Given the description of an element on the screen output the (x, y) to click on. 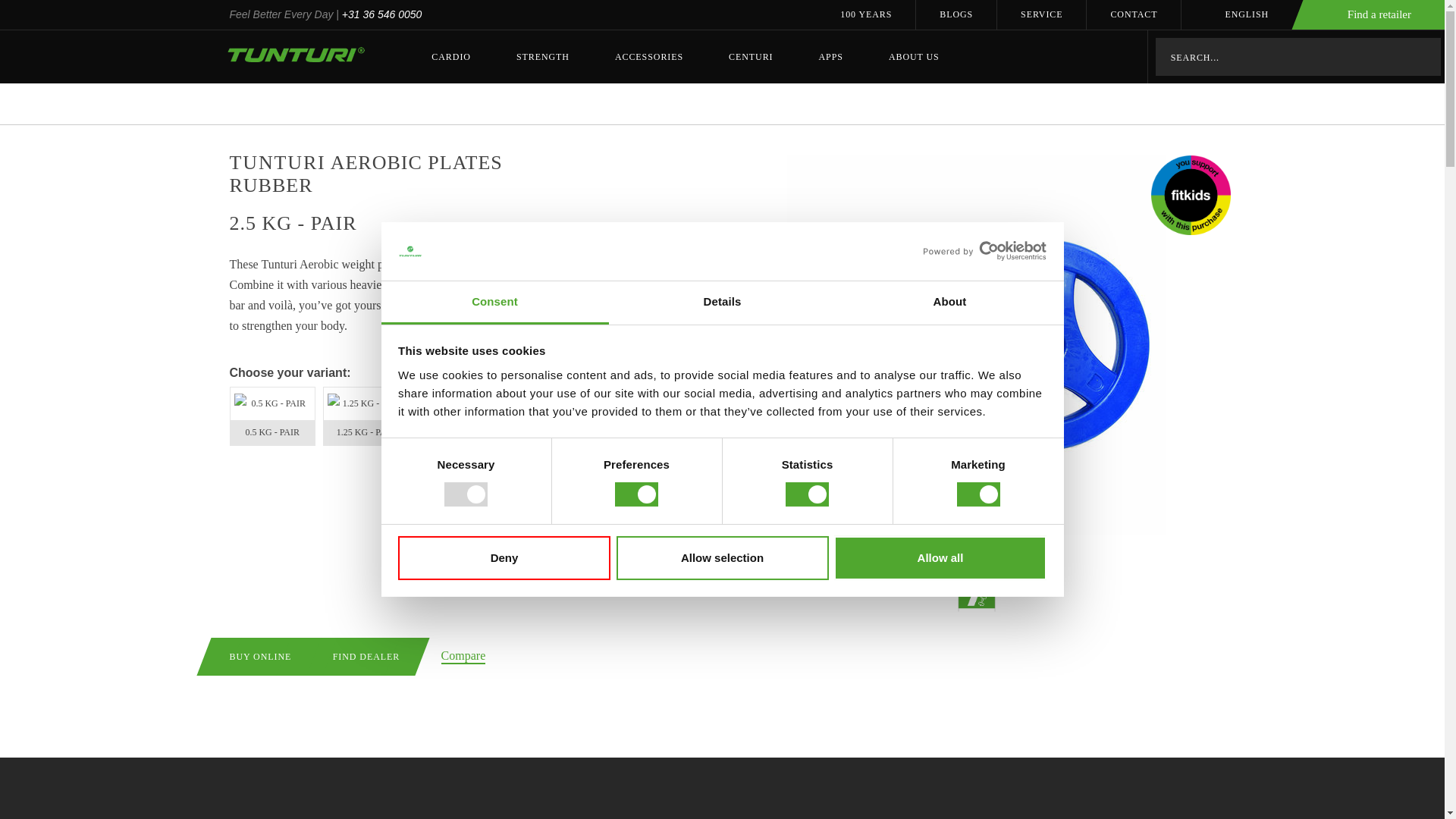
100 years (865, 14)
Contact (1133, 14)
Consent (494, 302)
Blogs (956, 14)
Details (721, 302)
Service (1041, 14)
Deny (503, 557)
About (948, 302)
